Given the description of an element on the screen output the (x, y) to click on. 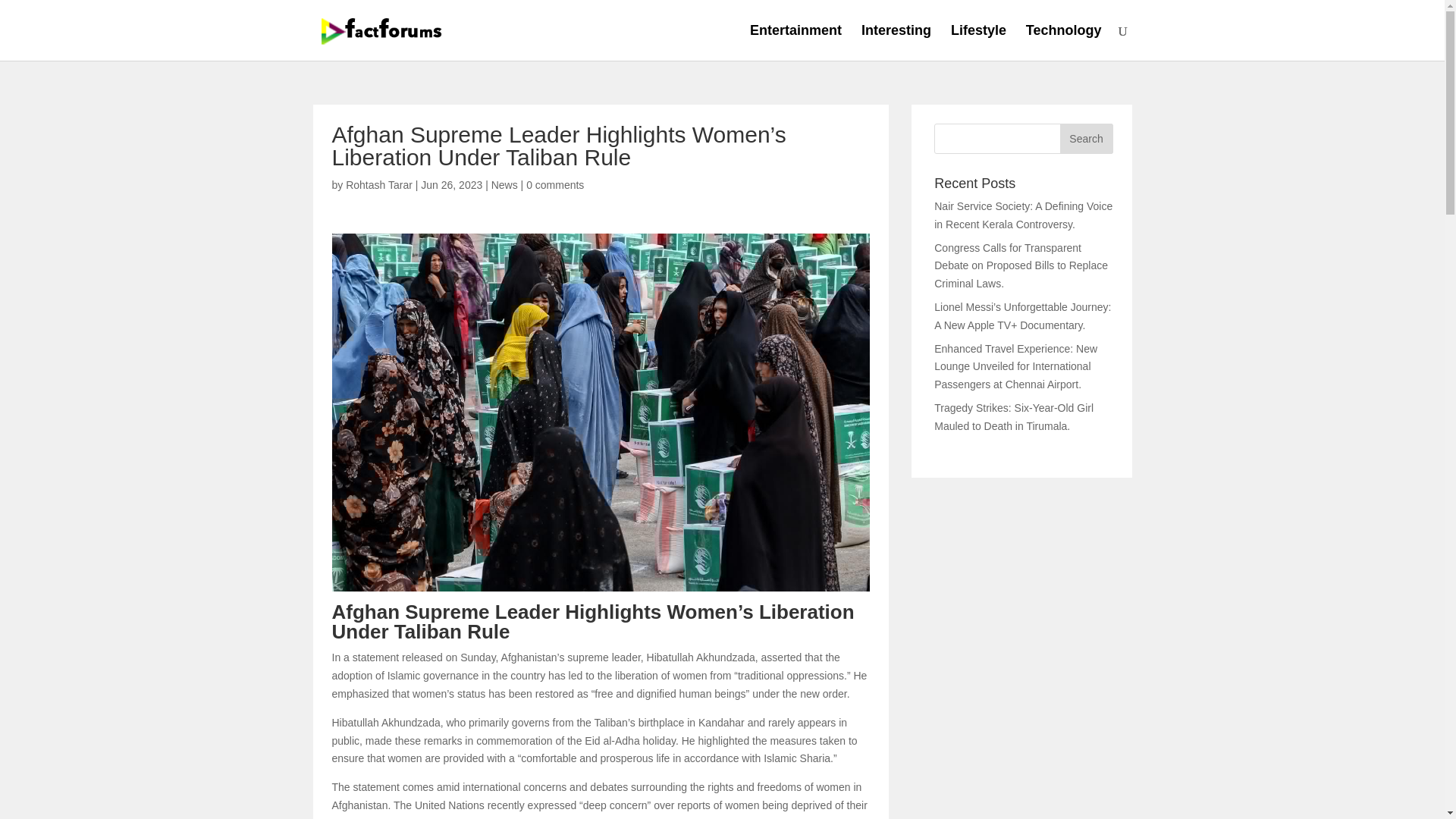
Lifestyle (978, 42)
Search (1086, 138)
0 comments (554, 184)
News (505, 184)
Entertainment (795, 42)
Posts by Rohtash Tarar (379, 184)
